Given the description of an element on the screen output the (x, y) to click on. 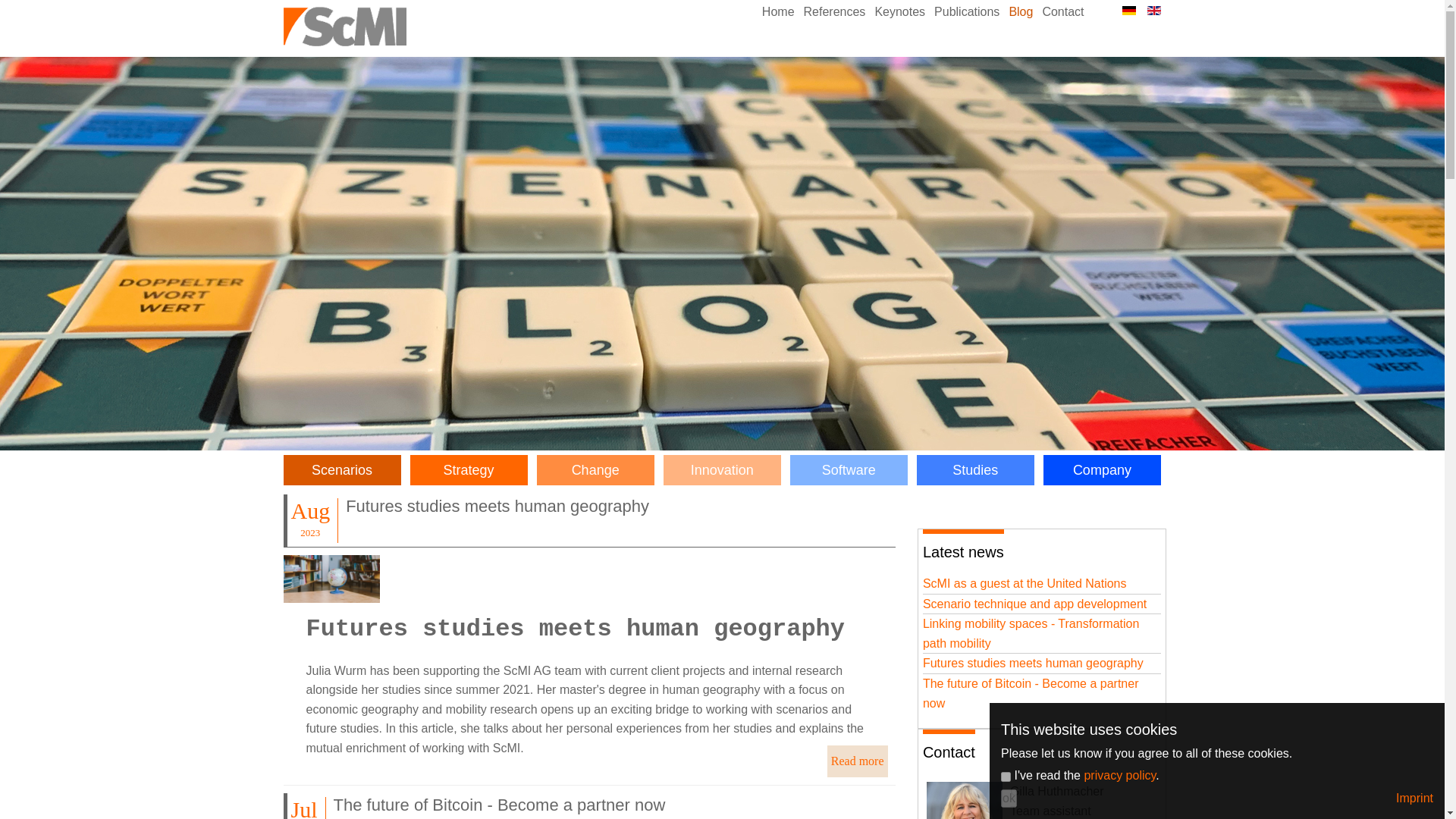
Publications (967, 12)
Contact (1061, 12)
References (834, 12)
Blog (1020, 12)
privacy policy (1119, 775)
Imprint (1414, 797)
Home (778, 12)
on (1005, 777)
Keynotes (899, 12)
Deutsch (1128, 10)
